Given the description of an element on the screen output the (x, y) to click on. 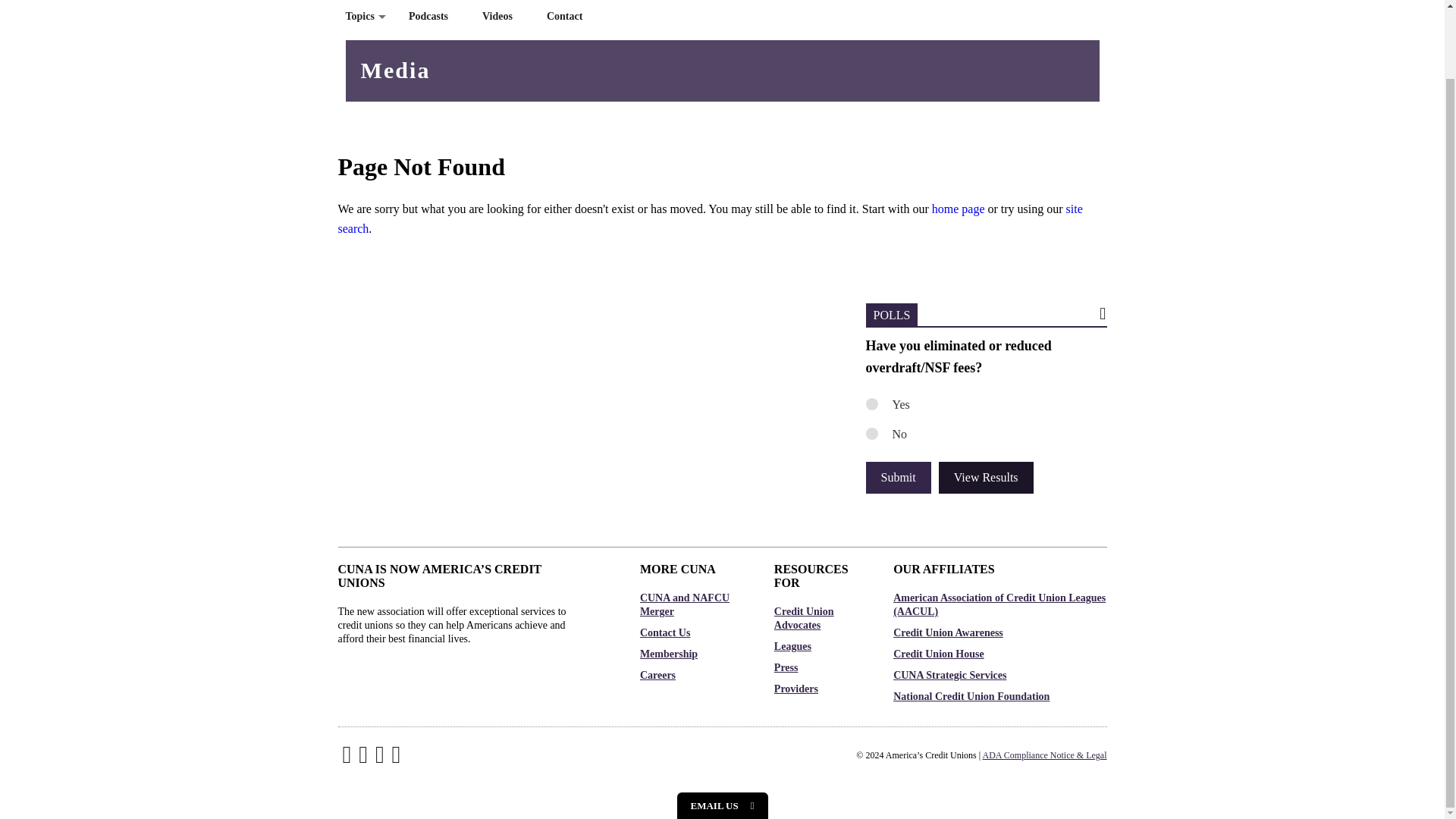
Leagues (818, 646)
Submit (898, 477)
Contact (570, 20)
View Results (986, 477)
Careers (692, 675)
Videos (502, 20)
Credit Union Advocates (818, 618)
home page (958, 208)
Membership (692, 653)
Submit (898, 477)
